Given the description of an element on the screen output the (x, y) to click on. 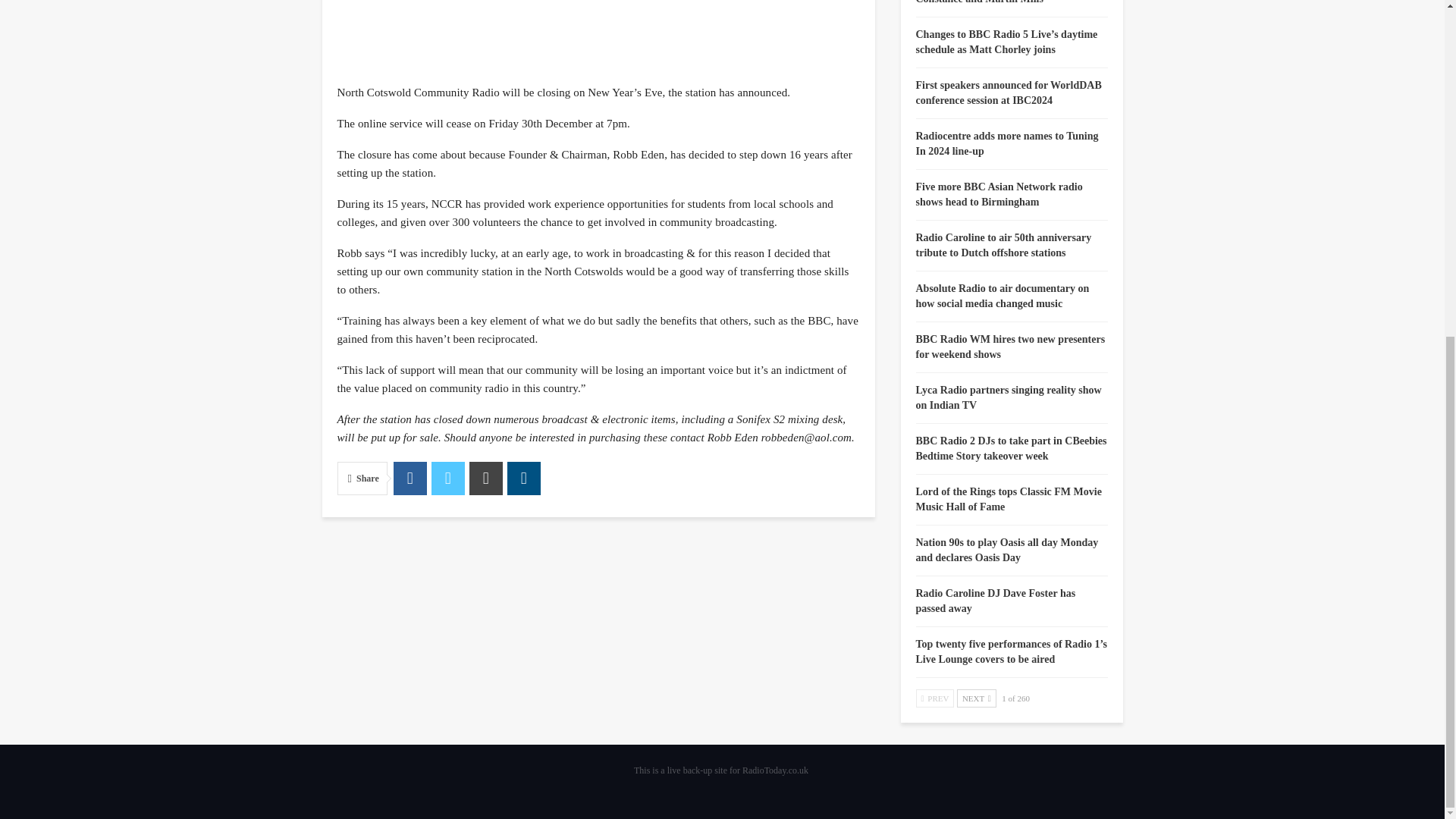
Lyca Radio partners singing reality show on Indian TV (1008, 397)
Five more BBC Asian Network radio shows head to Birmingham (999, 194)
BBC Radio WM hires two new presenters for weekend shows (1010, 346)
Radiocentre adds more names to Tuning In 2024 line-up (1007, 143)
Lord of the Rings tops Classic FM Movie Music Hall of Fame (1008, 499)
Previous (935, 698)
NEXT (975, 698)
